Given the description of an element on the screen output the (x, y) to click on. 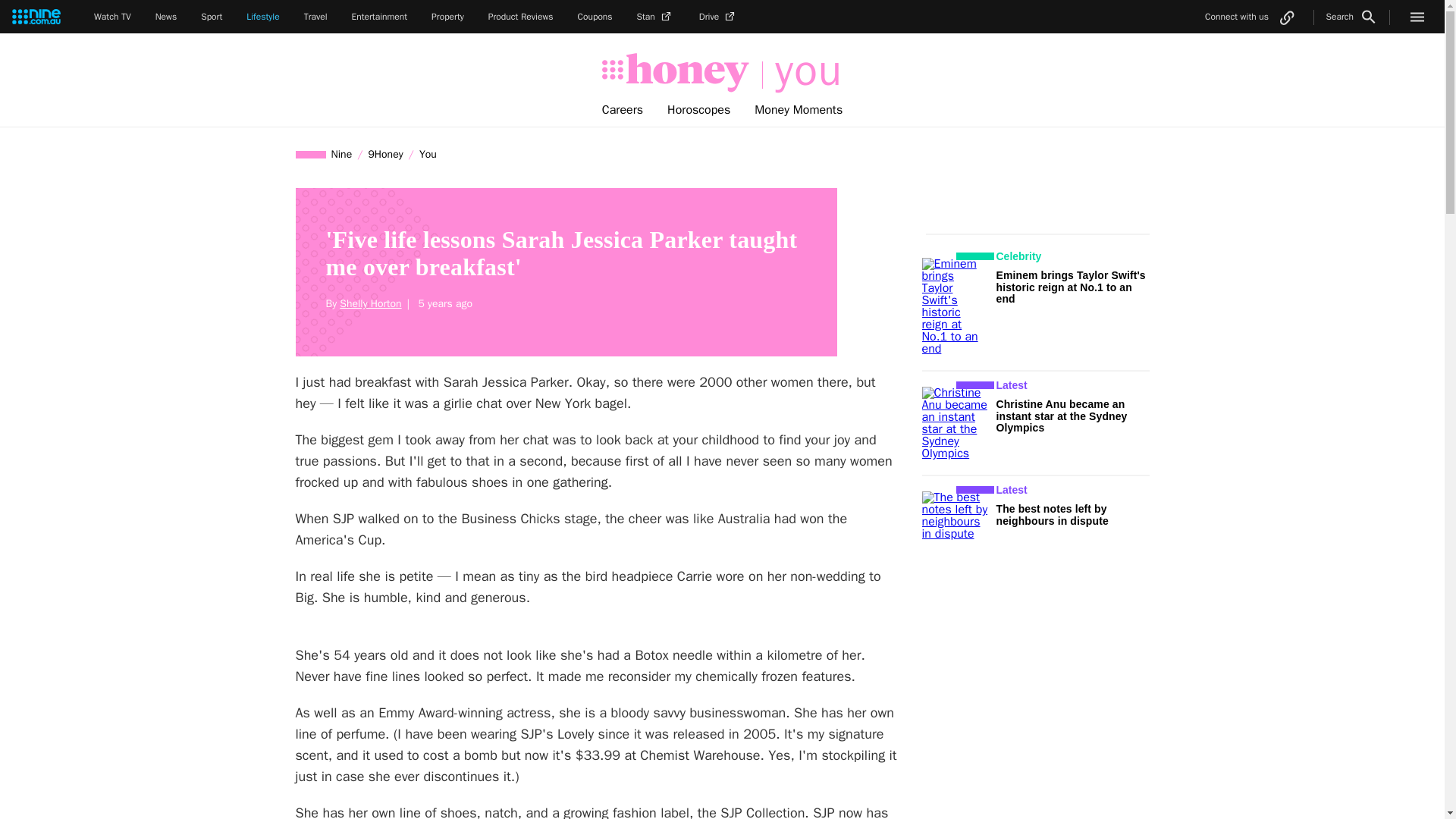
Stan (656, 16)
Money Moments (798, 109)
Horoscopes (698, 109)
You (427, 154)
Product Reviews (520, 16)
Careers (622, 109)
News (166, 16)
Sport (211, 16)
Travel (315, 16)
Entertainment (379, 16)
Property (447, 16)
Watch TV (112, 16)
you (802, 71)
Christine Anu became an instant star at the Sydney Olympics (1060, 416)
